Given the description of an element on the screen output the (x, y) to click on. 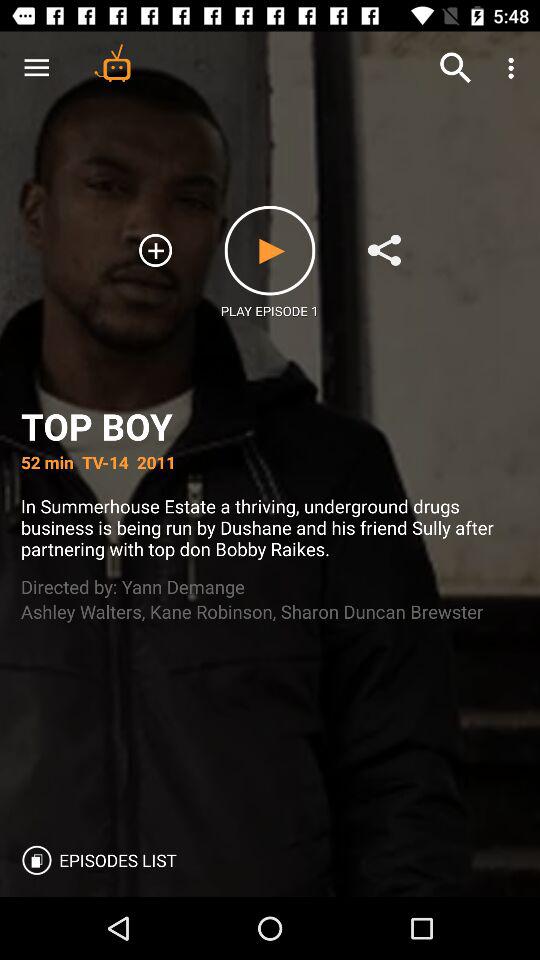
turn off the item above the top boy icon (112, 62)
